Given the description of an element on the screen output the (x, y) to click on. 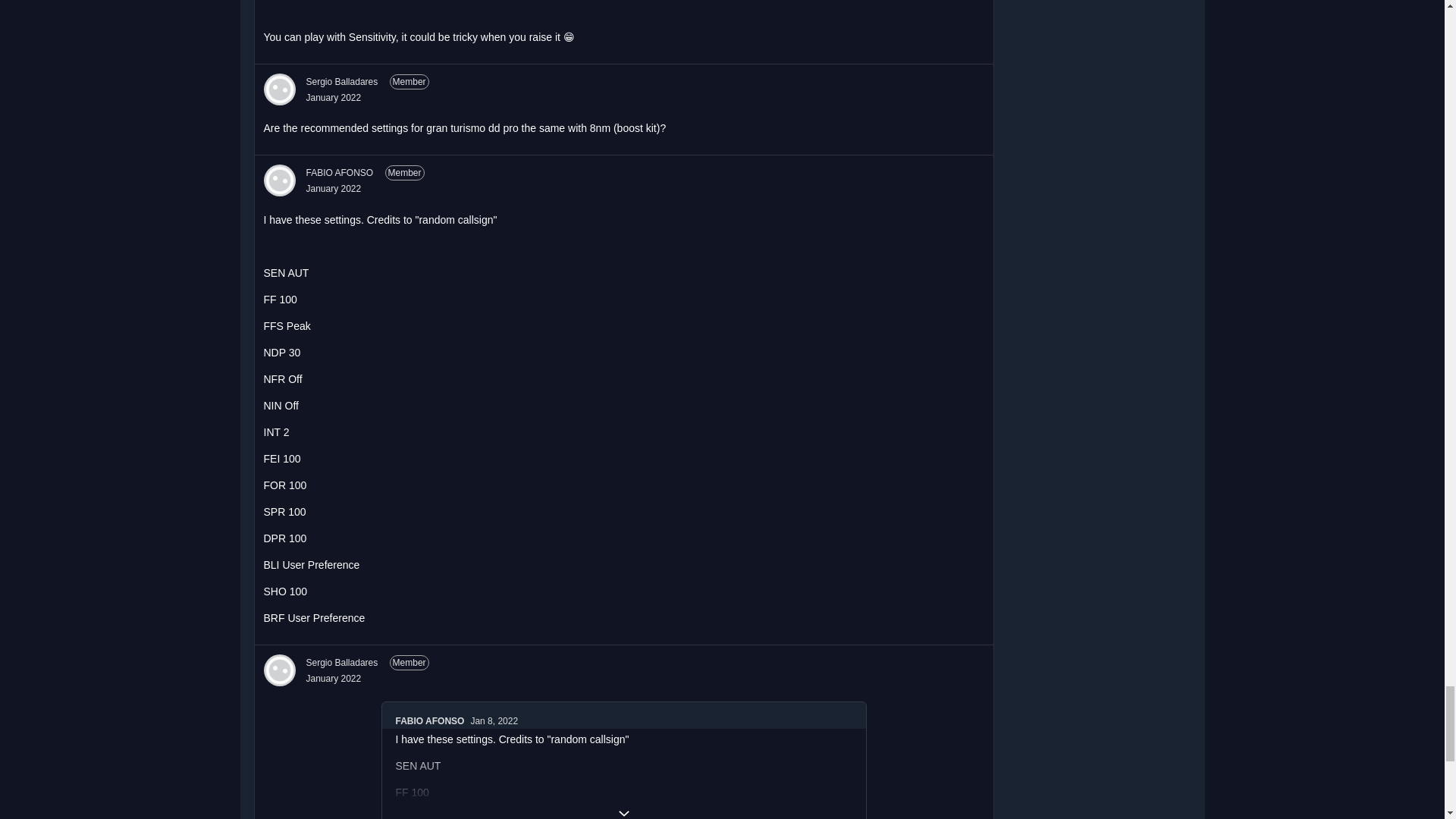
Expand (622, 811)
